Given the description of an element on the screen output the (x, y) to click on. 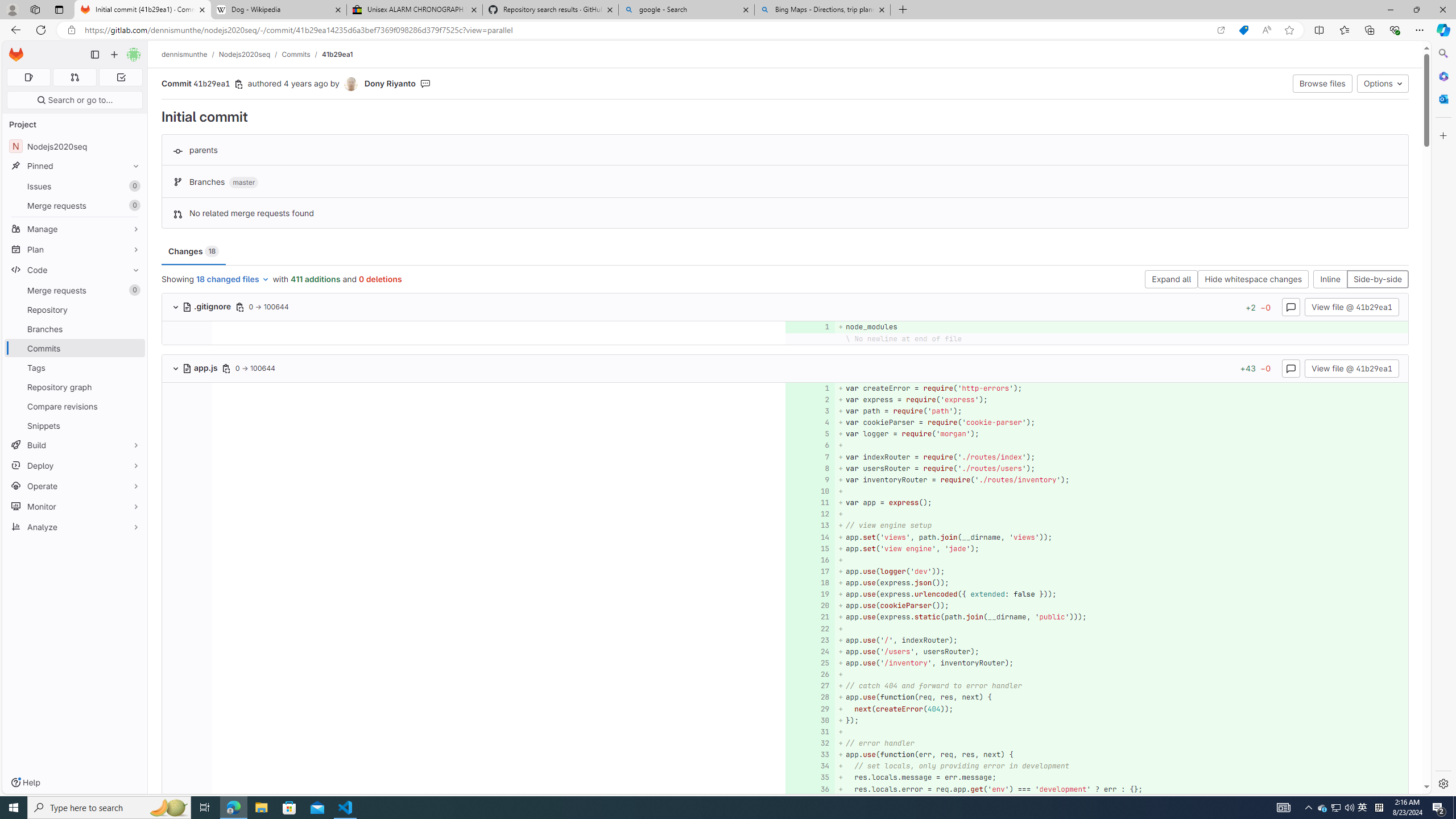
+ res.locals.message = err.message;  (1120, 777)
Pinned (74, 165)
Repository graph (74, 386)
Analyze (74, 526)
Add a comment to this line 17 (809, 571)
Copy commit SHA (238, 83)
Add a comment to this line 15 (809, 548)
Deploy (74, 465)
Add a comment to this line 25 (809, 663)
Add a comment to this line 35 (809, 777)
28 (808, 697)
+ var cookieParser = require('cookie-parser');  (1120, 422)
